Given the description of an element on the screen output the (x, y) to click on. 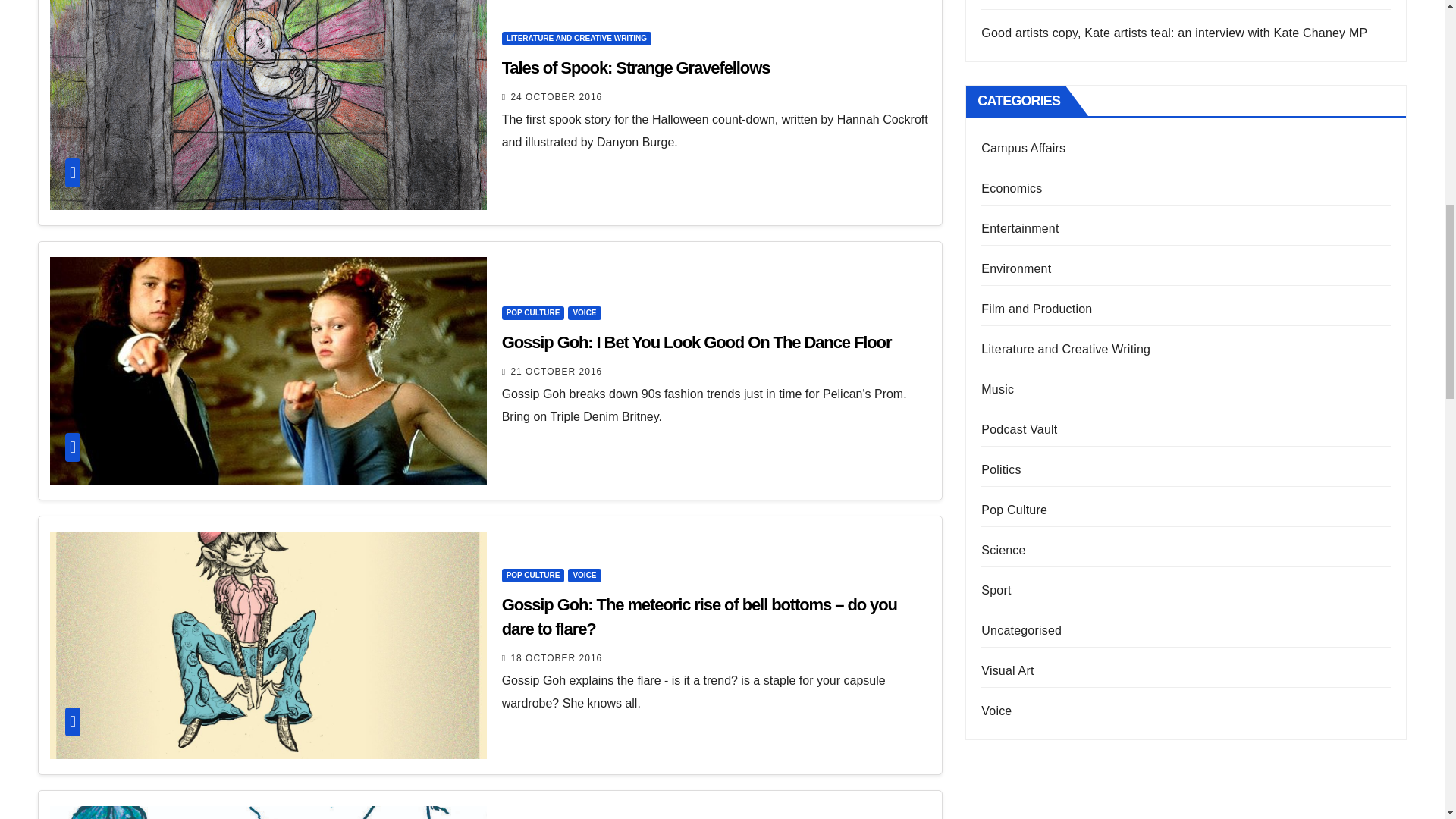
Tales of Spook: Strange Gravefellows (636, 67)
Gossip Goh: I Bet You Look Good On The Dance Floor (696, 342)
POP CULTURE (533, 313)
POP CULTURE (533, 575)
24 OCTOBER 2016 (556, 96)
VOICE (583, 313)
21 OCTOBER 2016 (556, 371)
LITERATURE AND CREATIVE WRITING (576, 38)
